Given the description of an element on the screen output the (x, y) to click on. 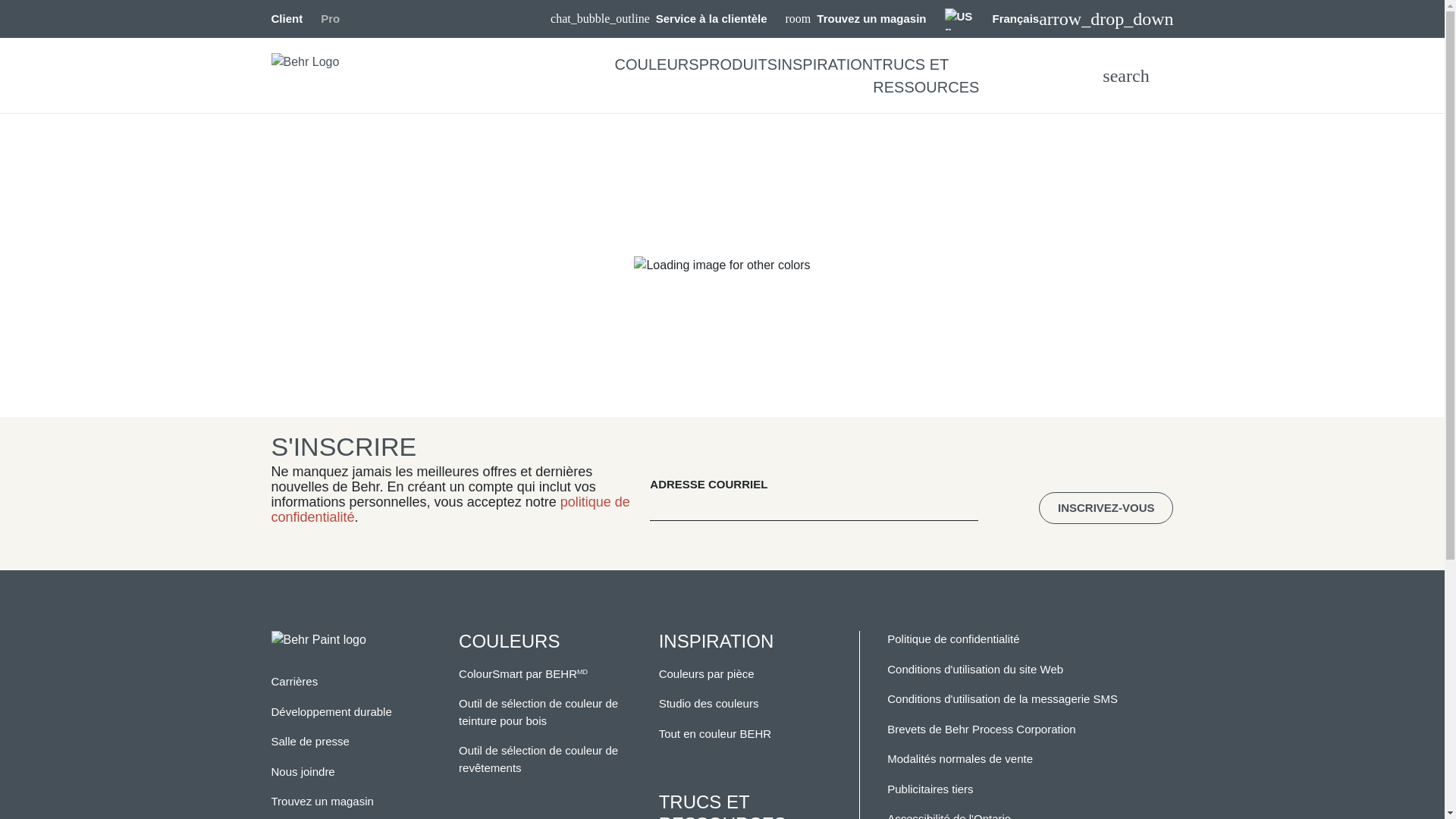
Pro Element type: text (329, 18)
TRUCS ET RESSOURCES Element type: text (925, 75)
INSPIRATION Element type: text (824, 64)
Trouvez un magasin Element type: text (322, 800)
Conditions d'utilisation de la messagerie SMS Element type: text (1002, 698)
PRODUITS Element type: text (738, 64)
Publicitaires tiers Element type: text (929, 788)
Brevets de Behr Process Corporation Element type: text (981, 728)
Client Element type: text (287, 18)
Conditions d'utilisation du site Web Element type: text (975, 668)
COULEURS Element type: text (656, 64)
INSCRIVEZ-VOUS Element type: text (1105, 508)
Studio des couleurs Element type: text (708, 702)
room
Trouvez un magasin Element type: text (855, 19)
Nous joindre Element type: text (303, 771)
Salle de presse Element type: text (310, 740)
ColourSmart par BEHRMD Element type: text (522, 673)
Tout en couleur BEHR Element type: text (714, 733)
search Element type: text (1125, 75)
